Given the description of an element on the screen output the (x, y) to click on. 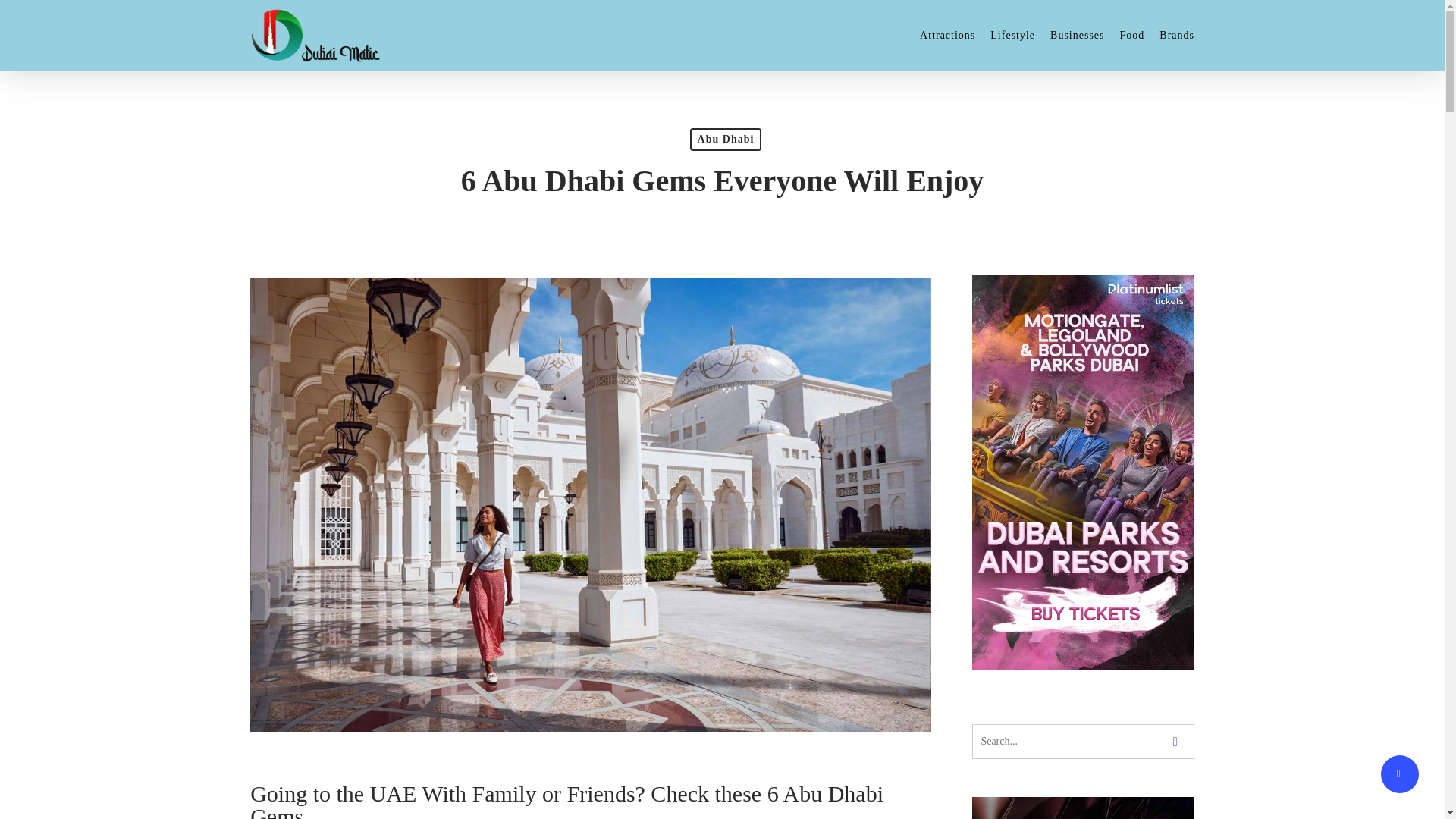
Attractions (947, 35)
Brands (1175, 35)
Businesses (1076, 35)
Search for: (1082, 741)
Abu Dhabi (725, 138)
Lifestyle (1012, 35)
Food (1131, 35)
